Given the description of an element on the screen output the (x, y) to click on. 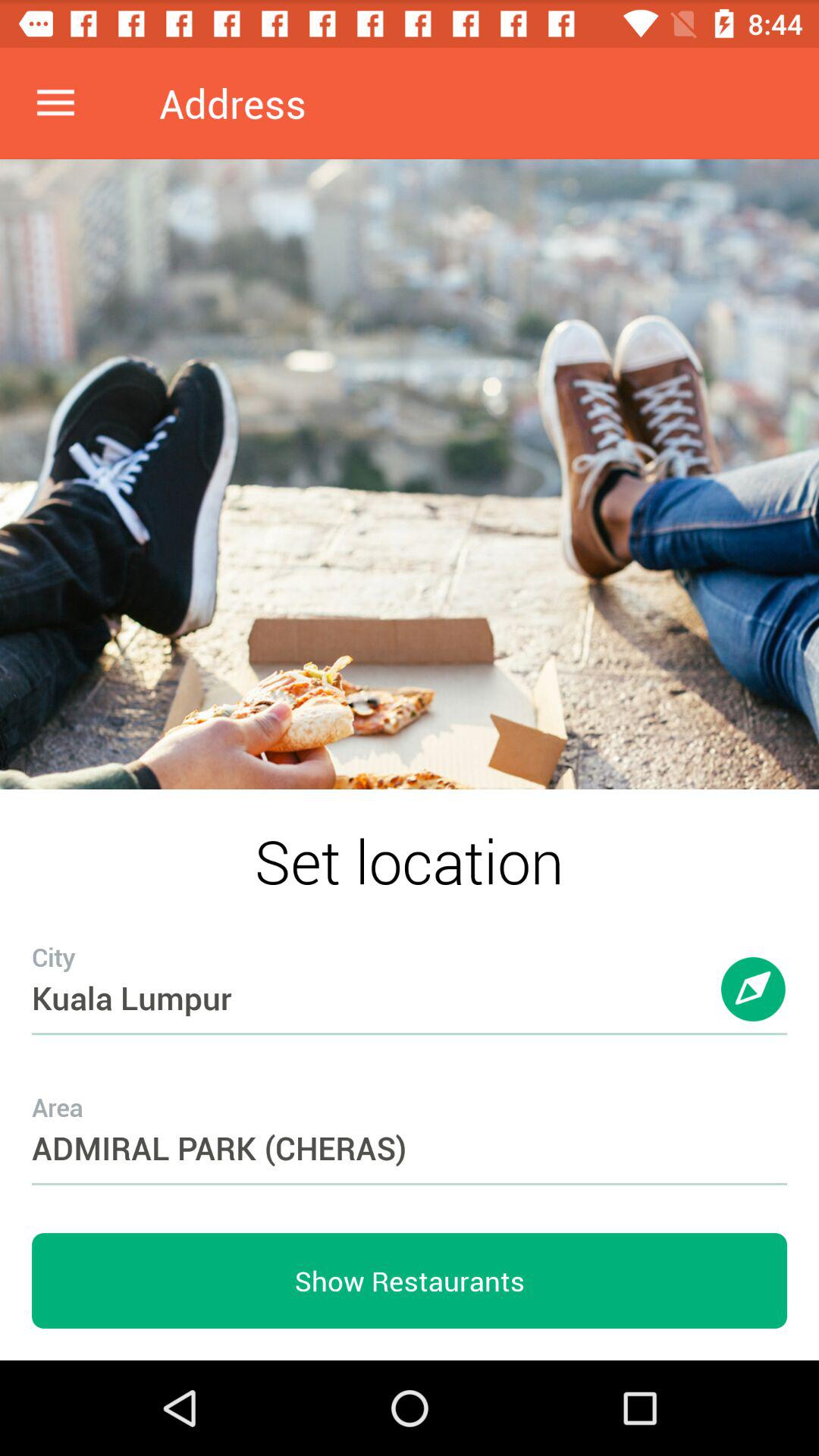
turn off the kuala lumpur icon (409, 967)
